Given the description of an element on the screen output the (x, y) to click on. 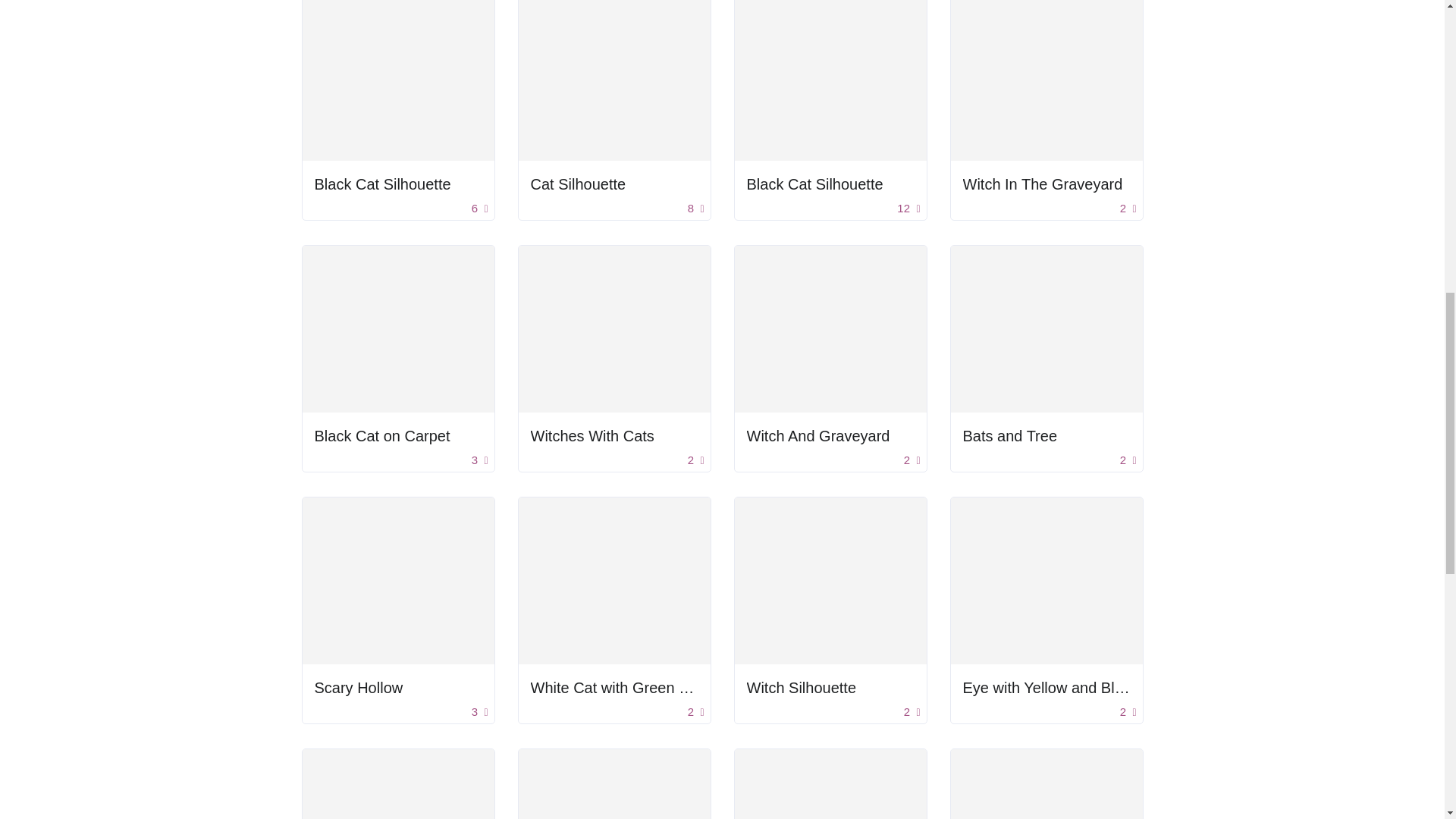
Black Cat on Carpet (397, 436)
Scary Hollow (397, 687)
3 people liked this (479, 460)
Witches With Cats (614, 436)
Scary Hollow (358, 687)
Cat Silhouette (578, 184)
Witch And Graveyard (829, 436)
2 people liked this (912, 460)
Bats and Tree (1046, 436)
12 people liked this (908, 208)
